Given the description of an element on the screen output the (x, y) to click on. 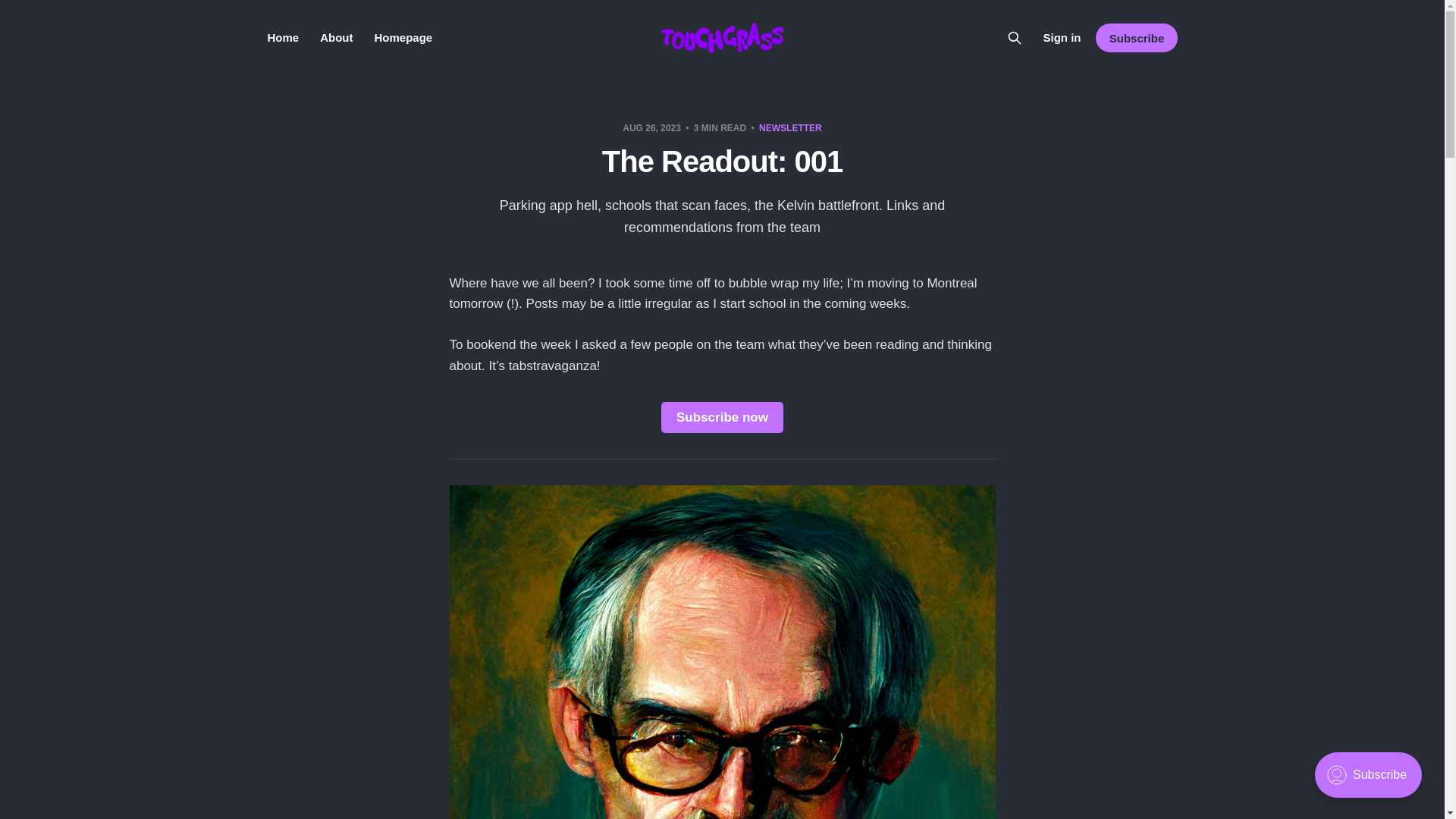
Home (282, 37)
NEWSLETTER (790, 127)
Subscribe now (722, 417)
About (336, 37)
Homepage (403, 37)
Subscribe (1136, 37)
Sign in (1061, 37)
